Given the description of an element on the screen output the (x, y) to click on. 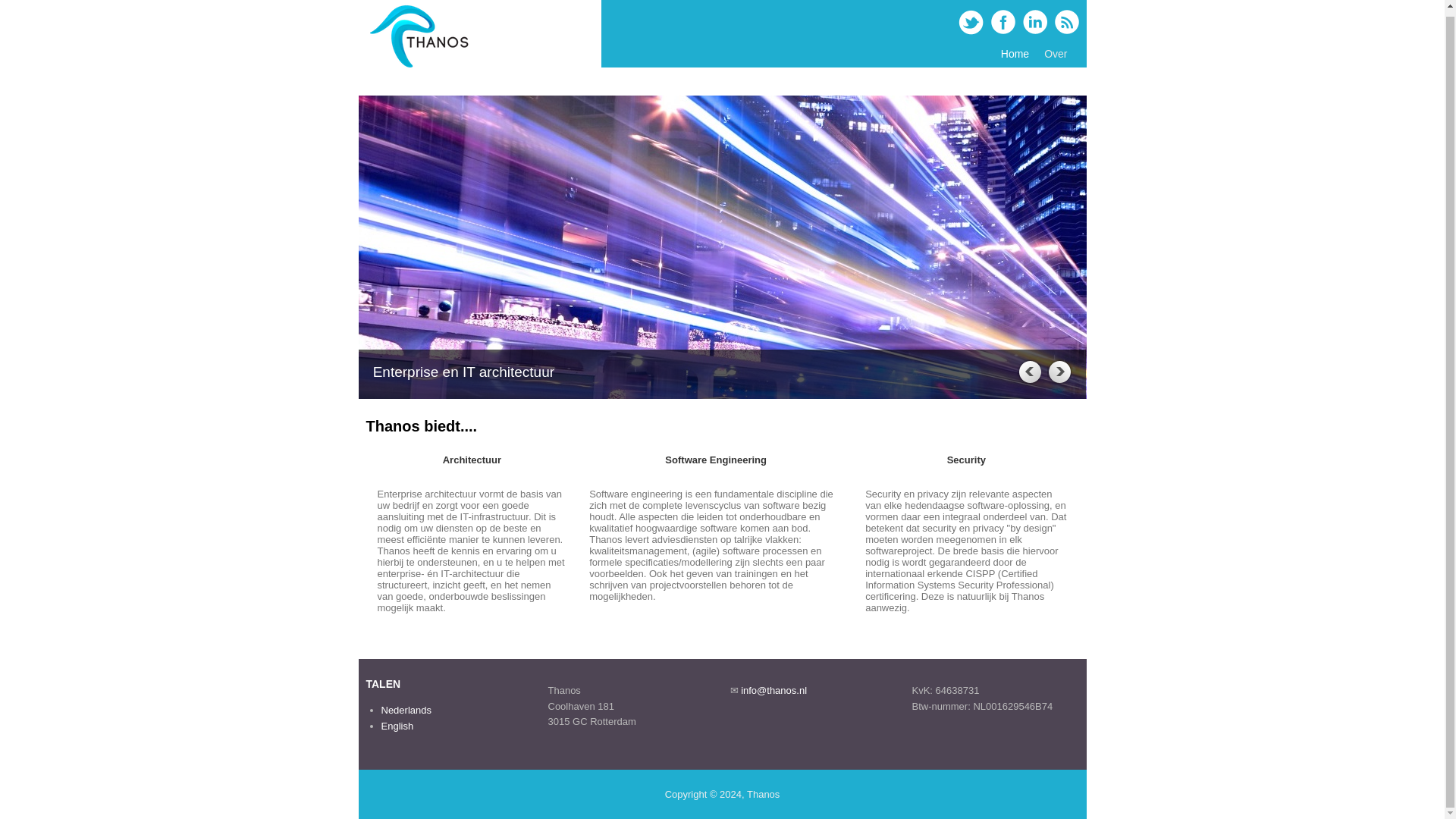
Over Thanos (1055, 53)
Next (1058, 371)
Nederlands (405, 709)
English (396, 726)
Home (418, 66)
Home (1014, 53)
Previous (1028, 371)
Over (1055, 53)
